Given the description of an element on the screen output the (x, y) to click on. 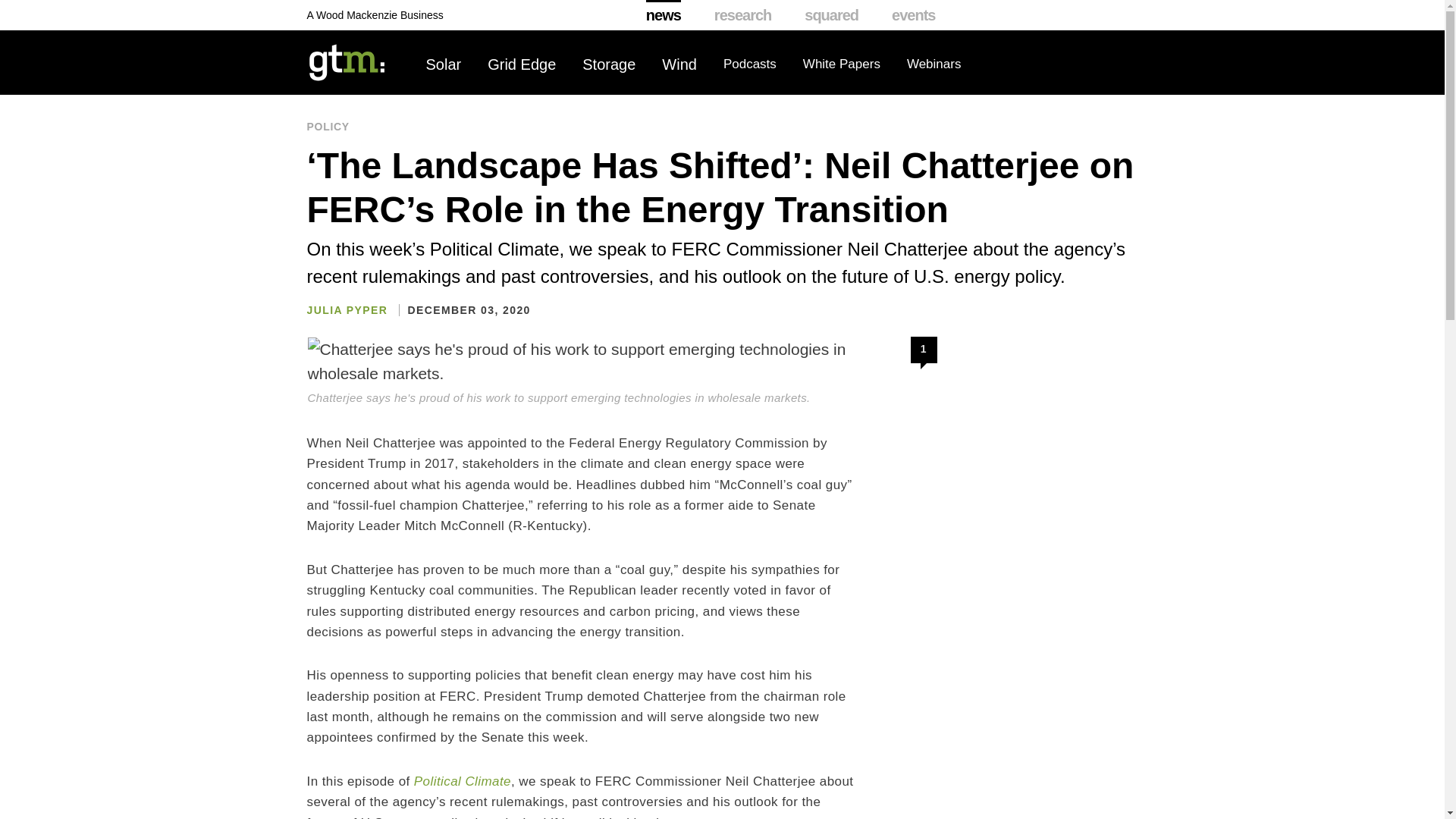
Storage (608, 64)
Wind (679, 64)
White Papers (841, 64)
Podcasts (749, 64)
events (912, 15)
research (742, 15)
news (663, 15)
Grid Edge (521, 64)
Solar (443, 64)
squared (832, 15)
